Given the description of an element on the screen output the (x, y) to click on. 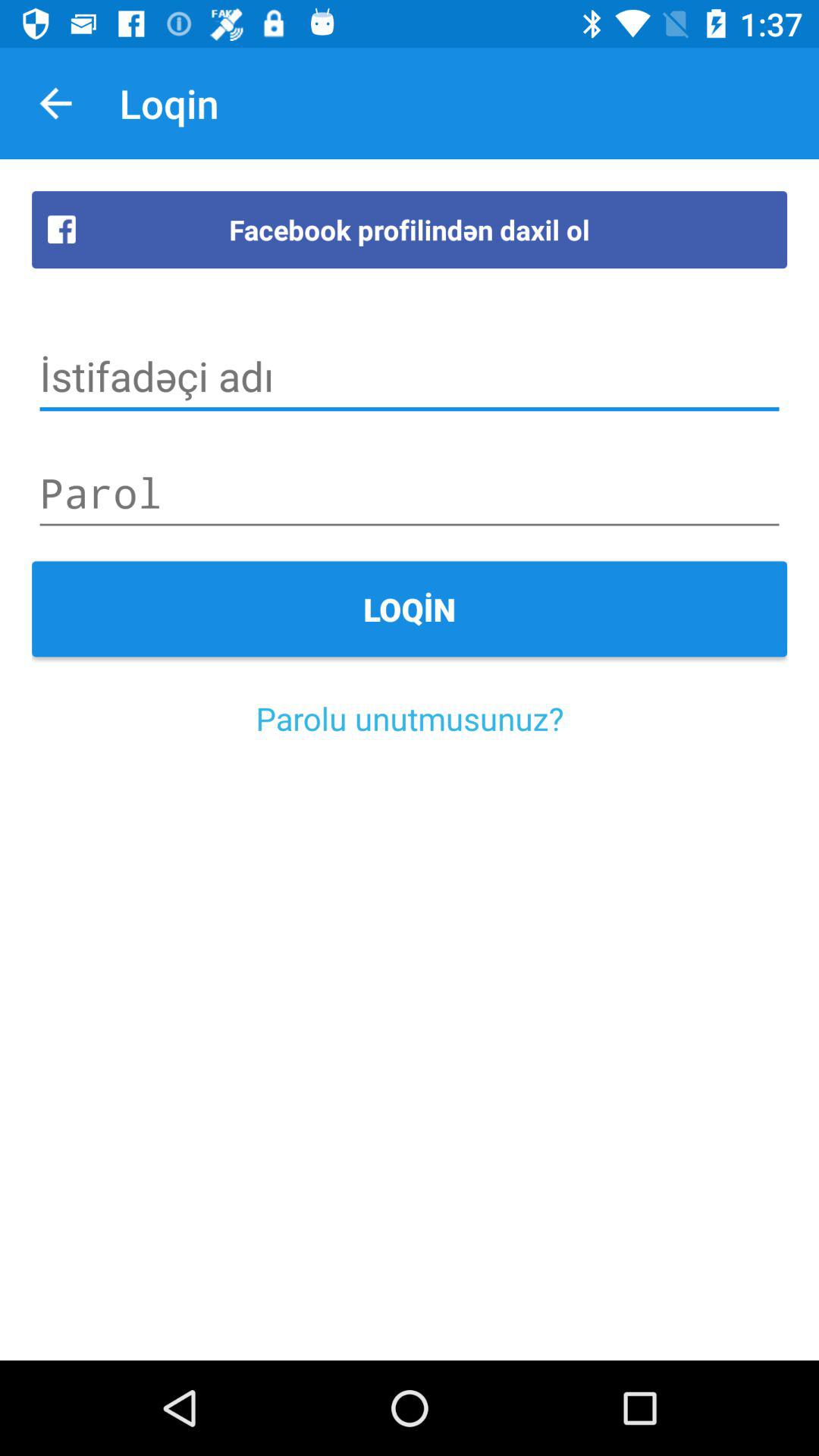
click item next to the loqin item (55, 103)
